Given the description of an element on the screen output the (x, y) to click on. 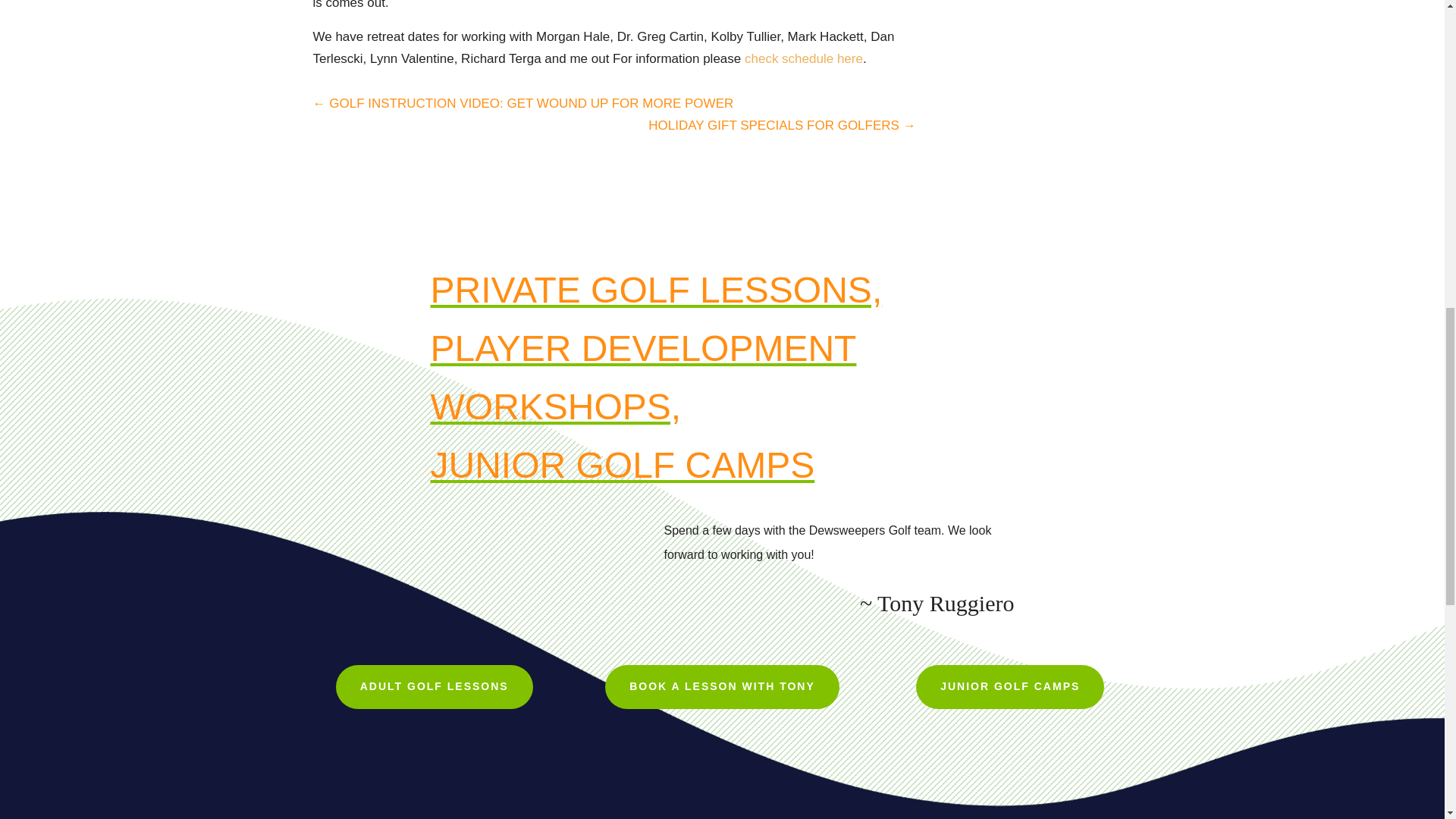
check schedule here (803, 58)
